Given the description of an element on the screen output the (x, y) to click on. 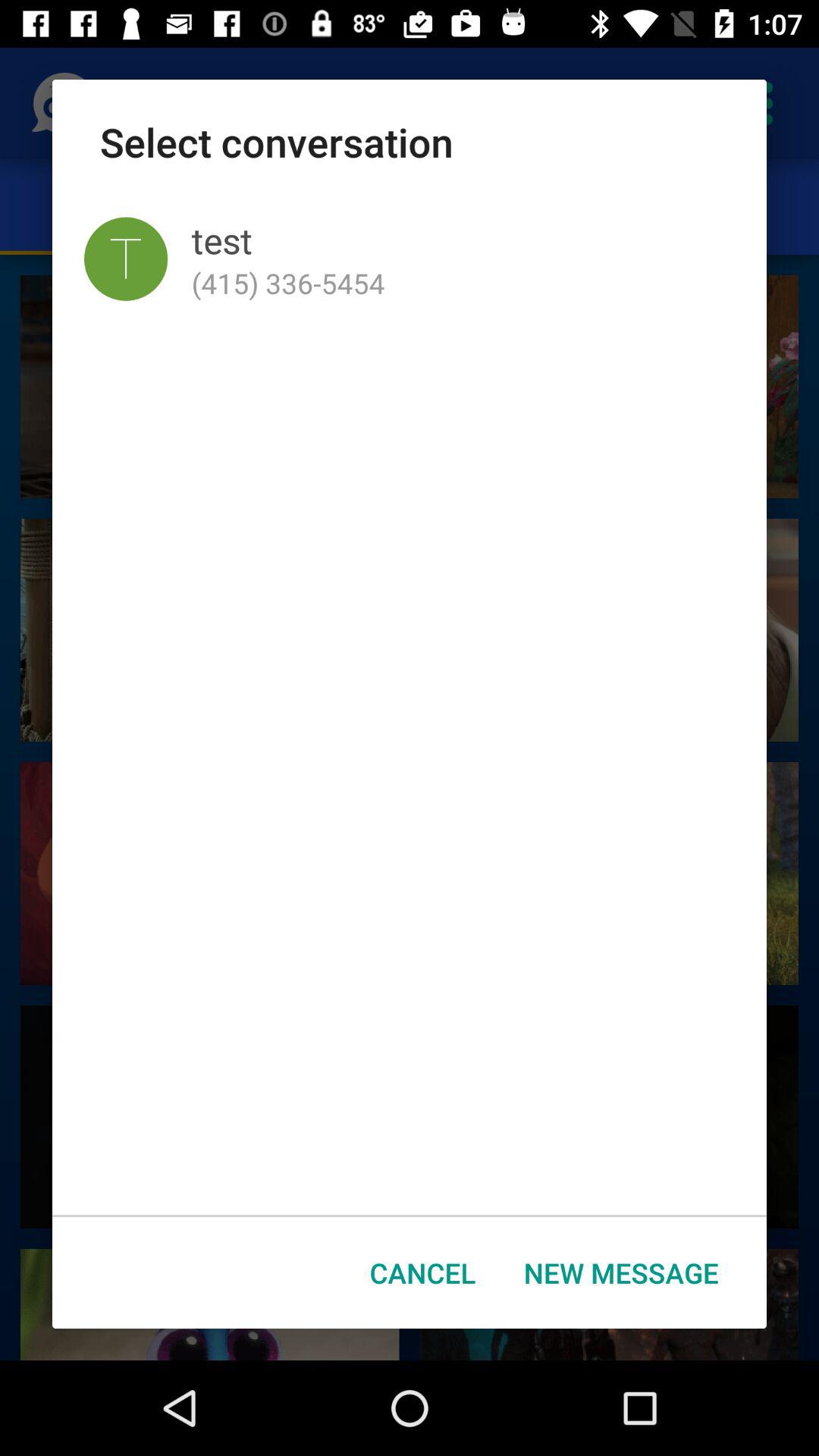
jump until the new message (620, 1272)
